Given the description of an element on the screen output the (x, y) to click on. 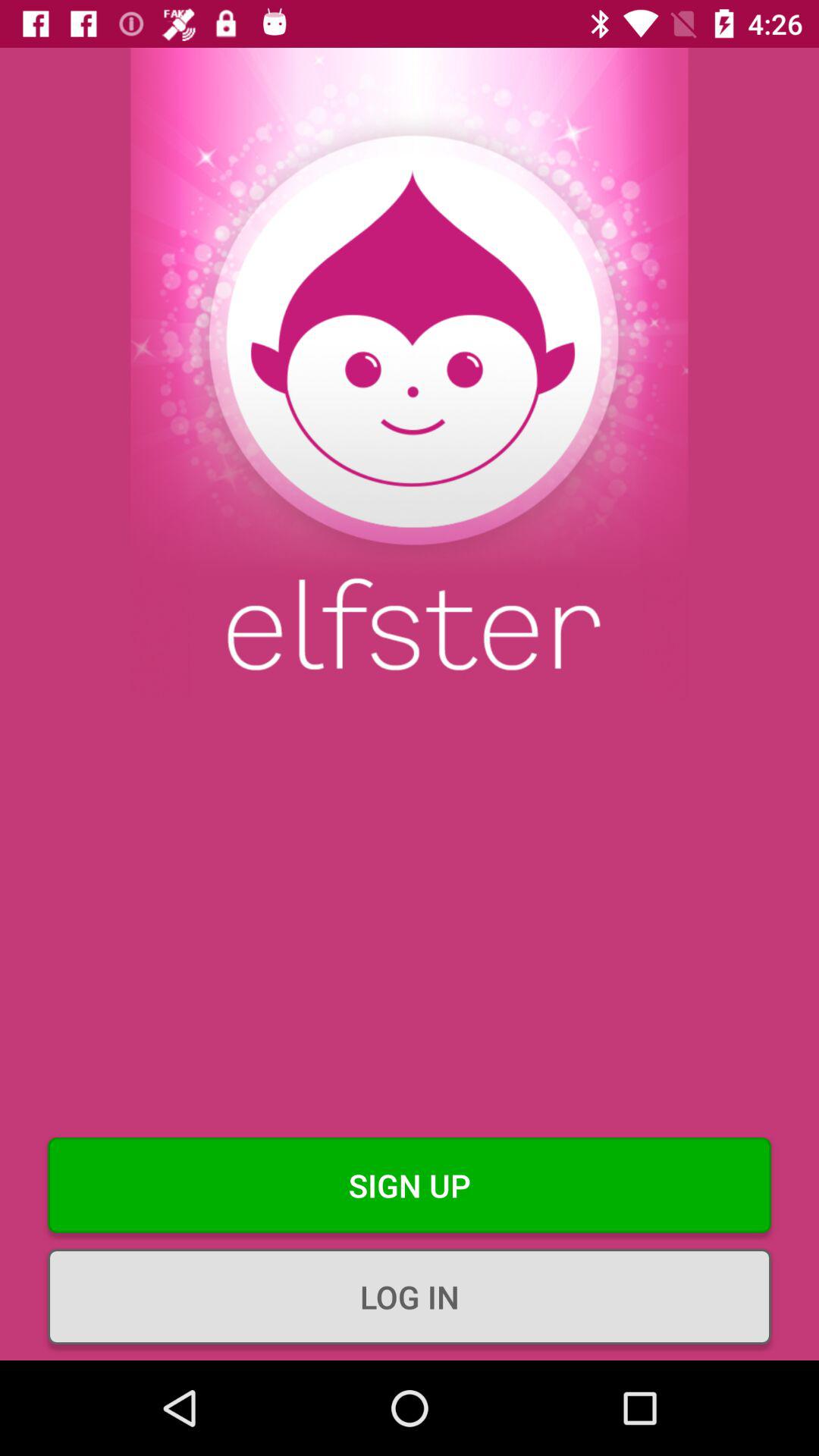
press the log in (409, 1296)
